Given the description of an element on the screen output the (x, y) to click on. 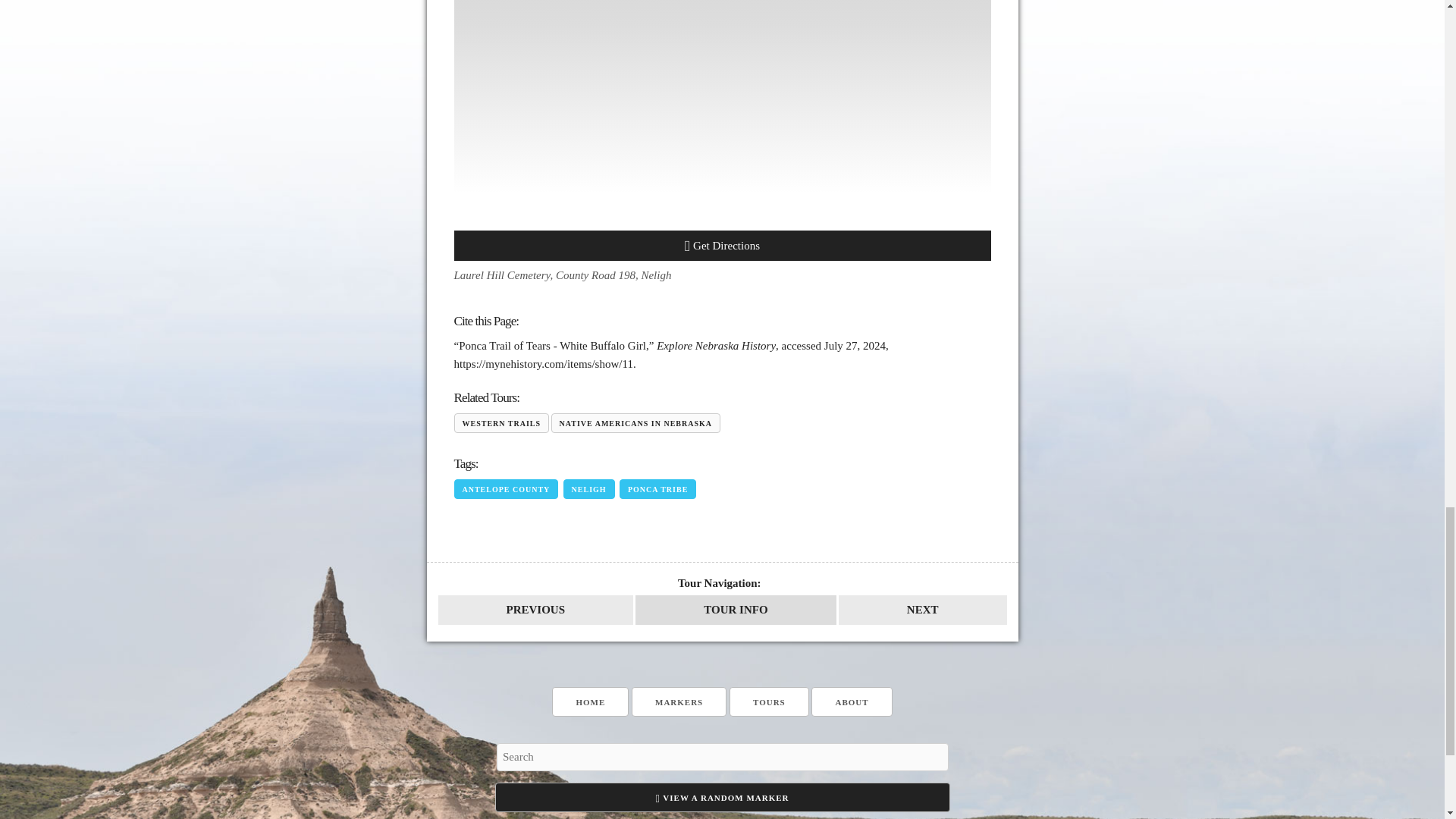
ANTELOPE COUNTY (504, 488)
HOME (589, 701)
TOURS (769, 701)
PREVIOUS (535, 609)
VIEW A RANDOM MARKER (722, 797)
ABOUT (850, 701)
Next stop on Tour (922, 609)
WESTERN TRAILS (500, 423)
NELIGH (588, 488)
NATIVE AMERICANS IN NEBRASKA (635, 423)
Get Directions on Google Maps (721, 245)
NEXT (922, 609)
MARKERS (678, 701)
PONCA TRIBE (657, 488)
Previous stop on Tour (535, 609)
